Given the description of an element on the screen output the (x, y) to click on. 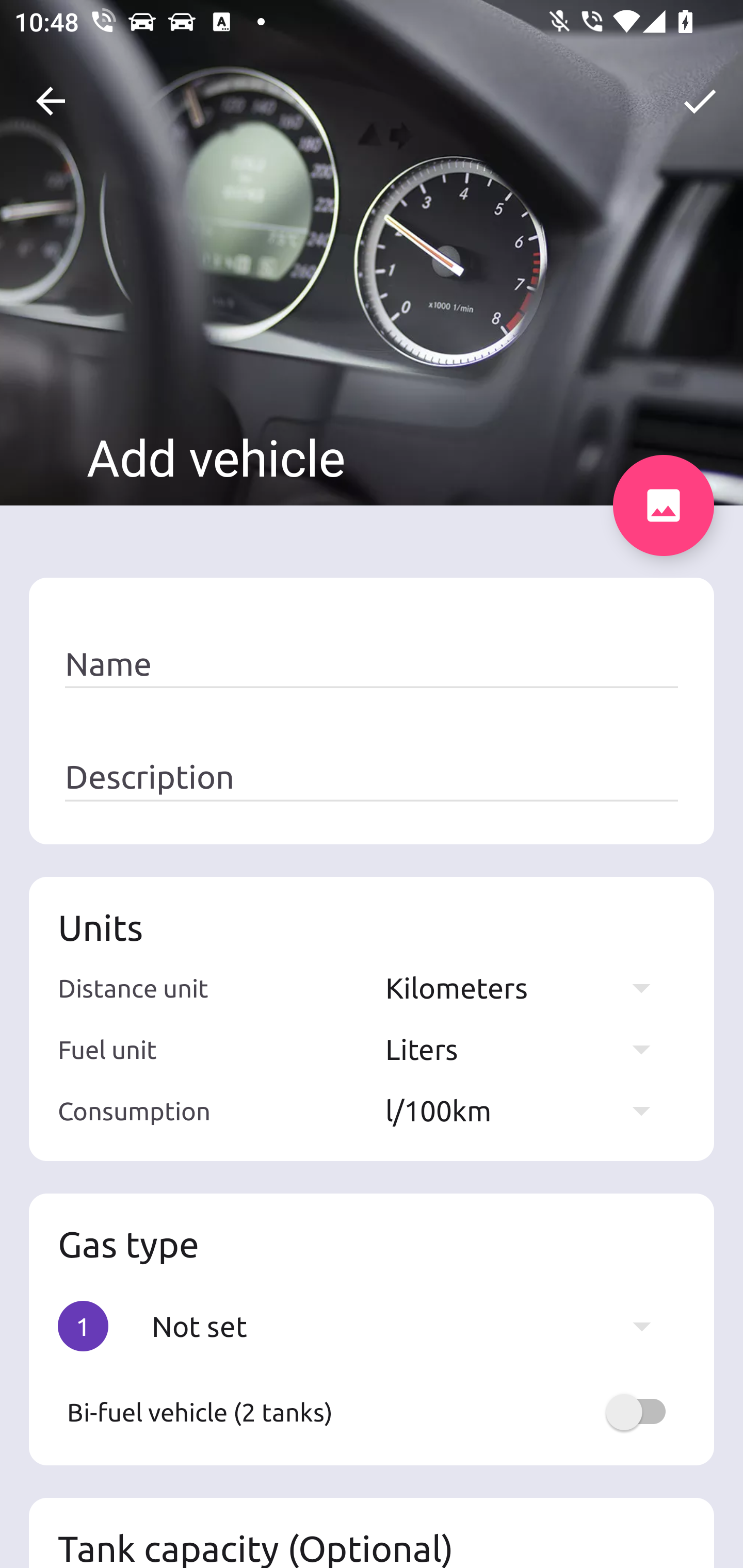
Navigate up (50, 101)
OK (699, 101)
Name (371, 664)
Description (371, 777)
Kilometers (527, 987)
Liters (527, 1048)
l/100km (527, 1110)
Not set (411, 1325)
Bi-fuel vehicle (2 tanks) (371, 1411)
